Given the description of an element on the screen output the (x, y) to click on. 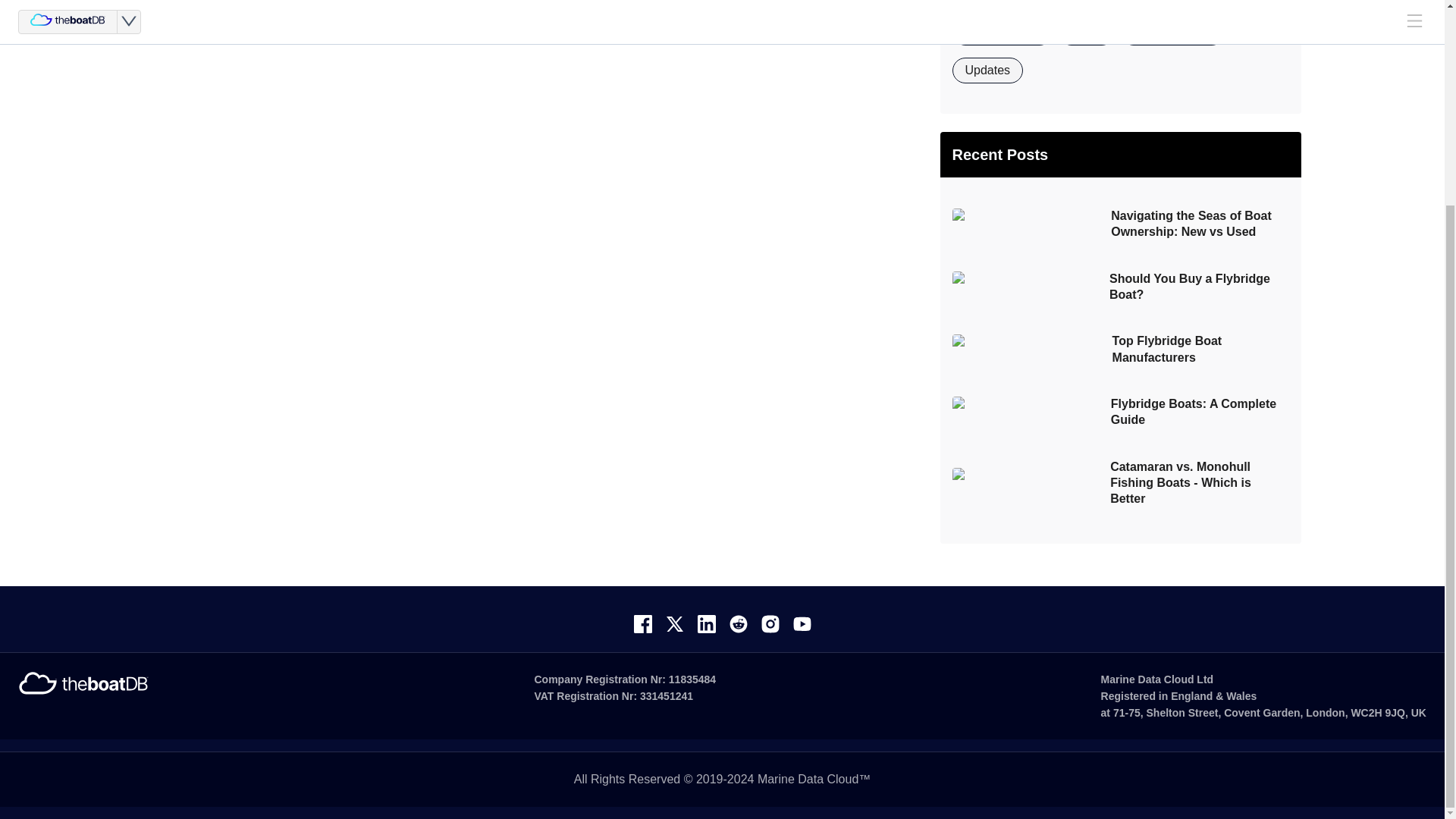
Catamaran vs. Monohull Fishing Boats - Which is Better (1120, 479)
Quiz (1213, 0)
Previous Page (156, 12)
1 (186, 12)
Uncategorized (1175, 32)
Flybridge Boats: A Complete Guide (1120, 409)
Yacht (1089, 32)
Updates (990, 70)
Navigating the Seas of Boat Ownership: New vs Used (1120, 220)
Specifications (1005, 32)
